Given the description of an element on the screen output the (x, y) to click on. 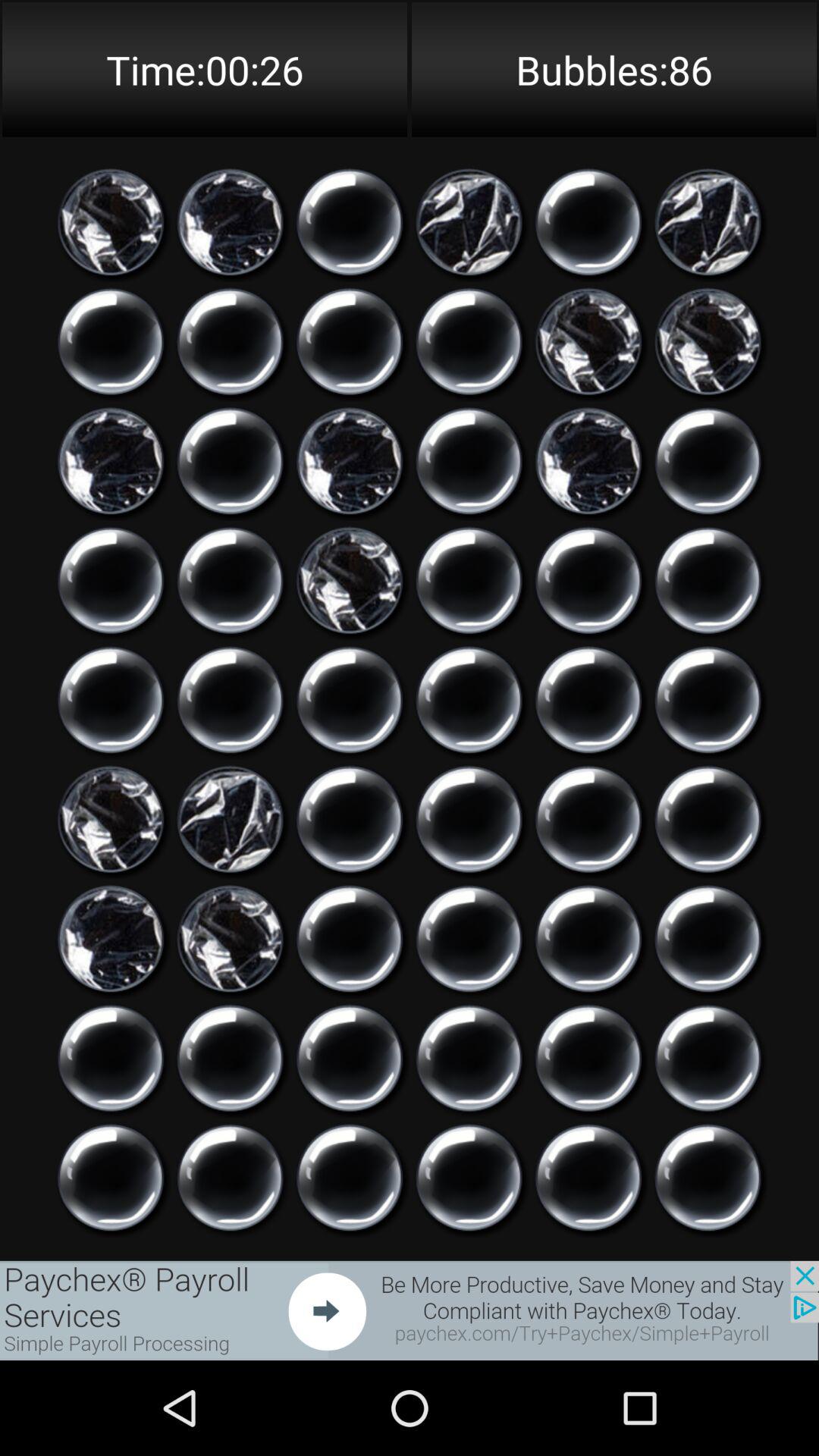
popped (349, 460)
